Given the description of an element on the screen output the (x, y) to click on. 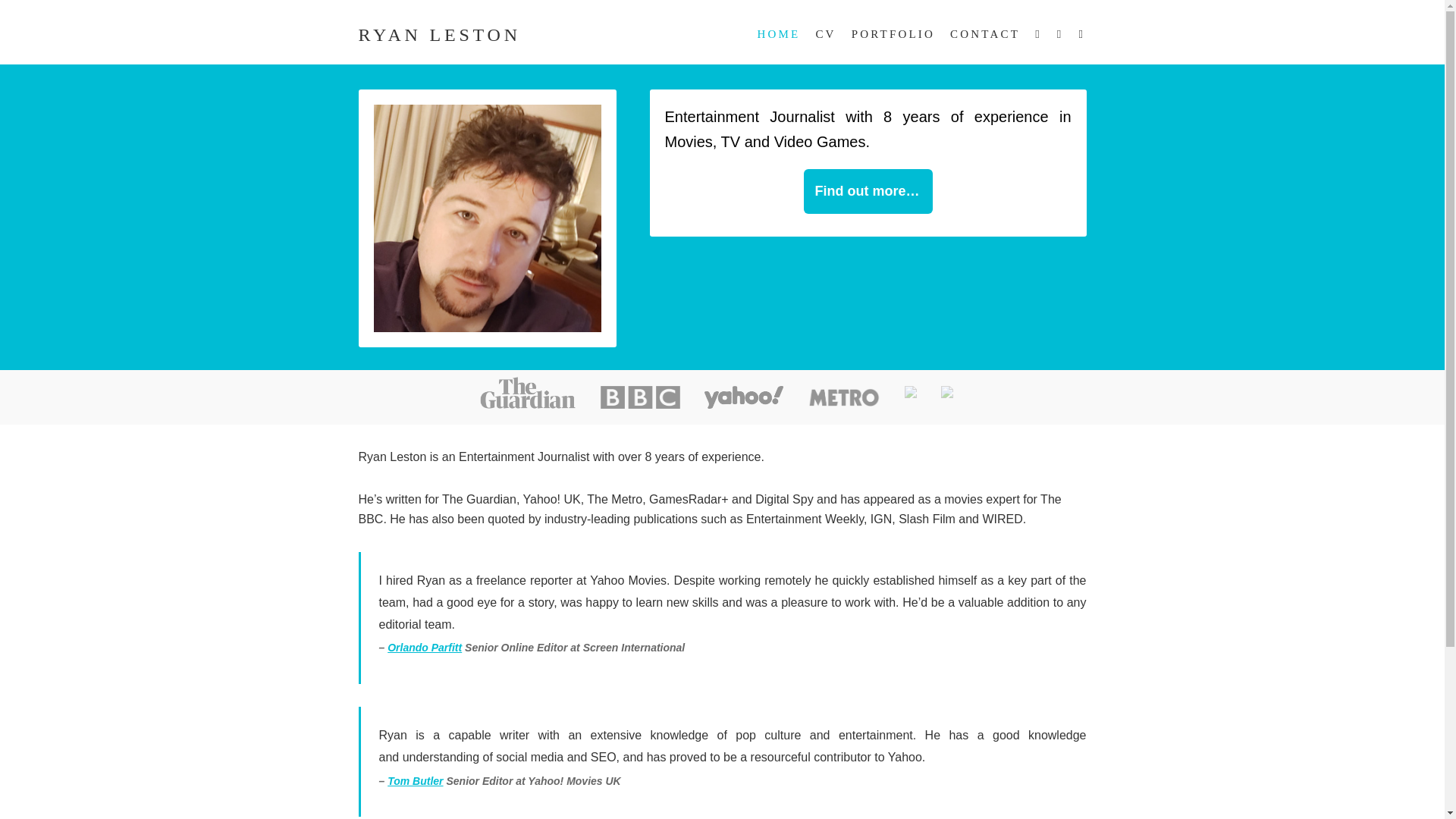
CONTACT (981, 34)
Orlando Parfitt (424, 647)
HOME (778, 34)
PORTFOLIO (893, 34)
CV (825, 34)
RYAN LESTON (438, 35)
Tom Butler (414, 780)
